Given the description of an element on the screen output the (x, y) to click on. 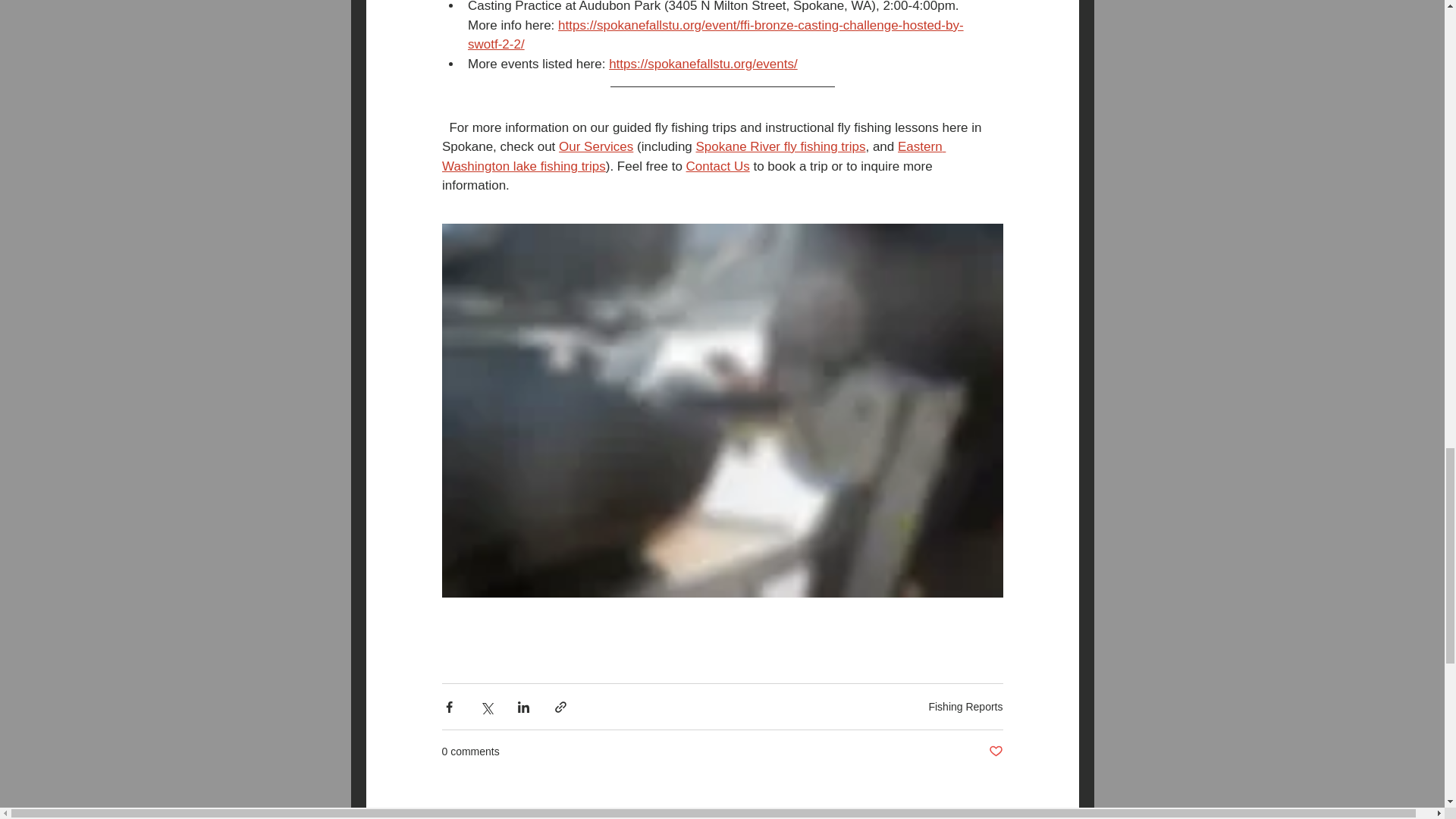
Our Services (596, 146)
Spokane River fly fishing trips (779, 146)
Fishing Reports (965, 706)
Eastern Washington lake fishing trips (692, 156)
Post not marked as liked (995, 751)
Contact Us (717, 165)
